Given the description of an element on the screen output the (x, y) to click on. 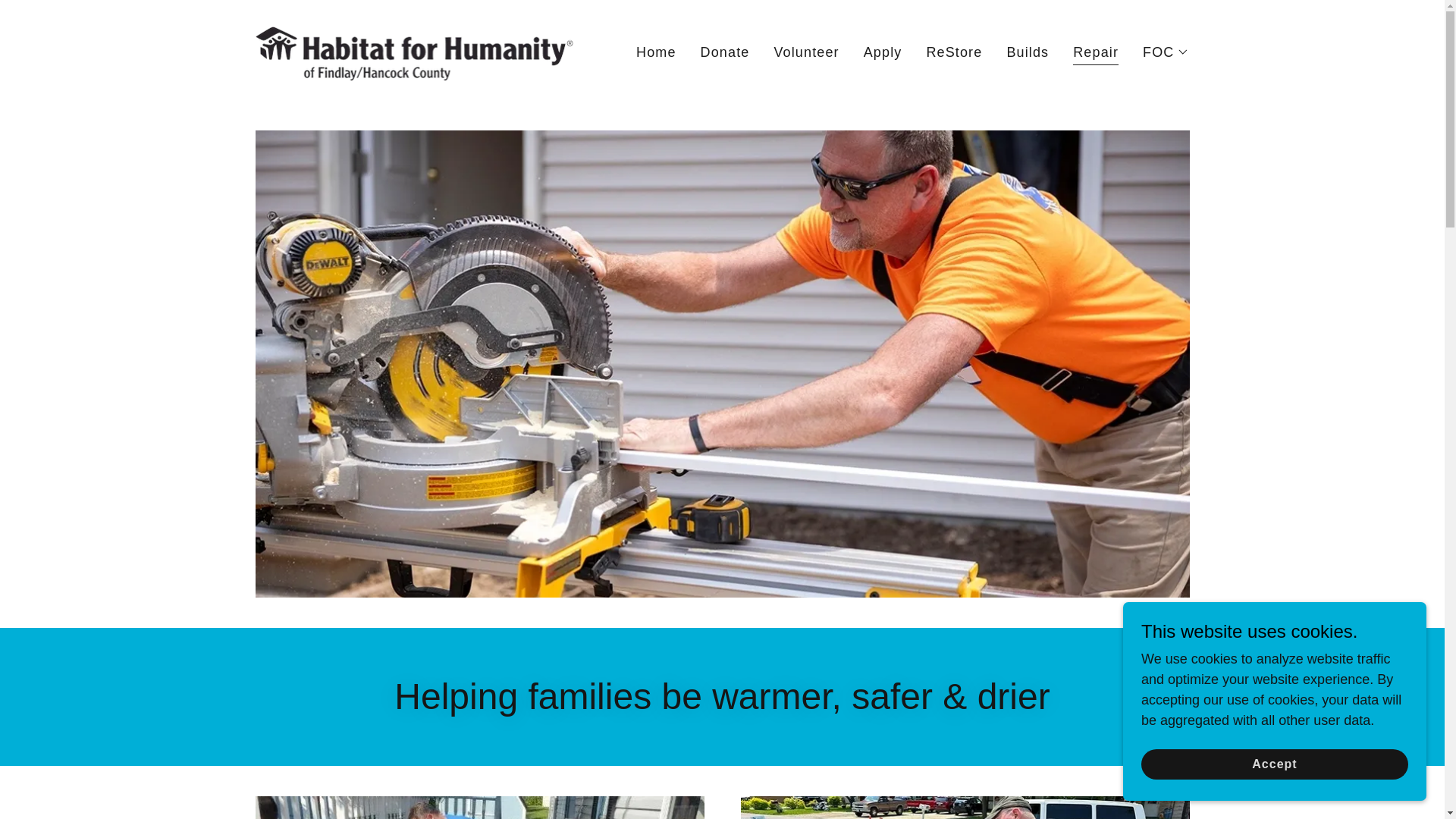
Home (656, 51)
FOC (1165, 51)
Repair (1095, 53)
Donate (724, 51)
Apply (883, 51)
Volunteer (805, 51)
Builds (1026, 51)
ReStore (954, 51)
